Given the description of an element on the screen output the (x, y) to click on. 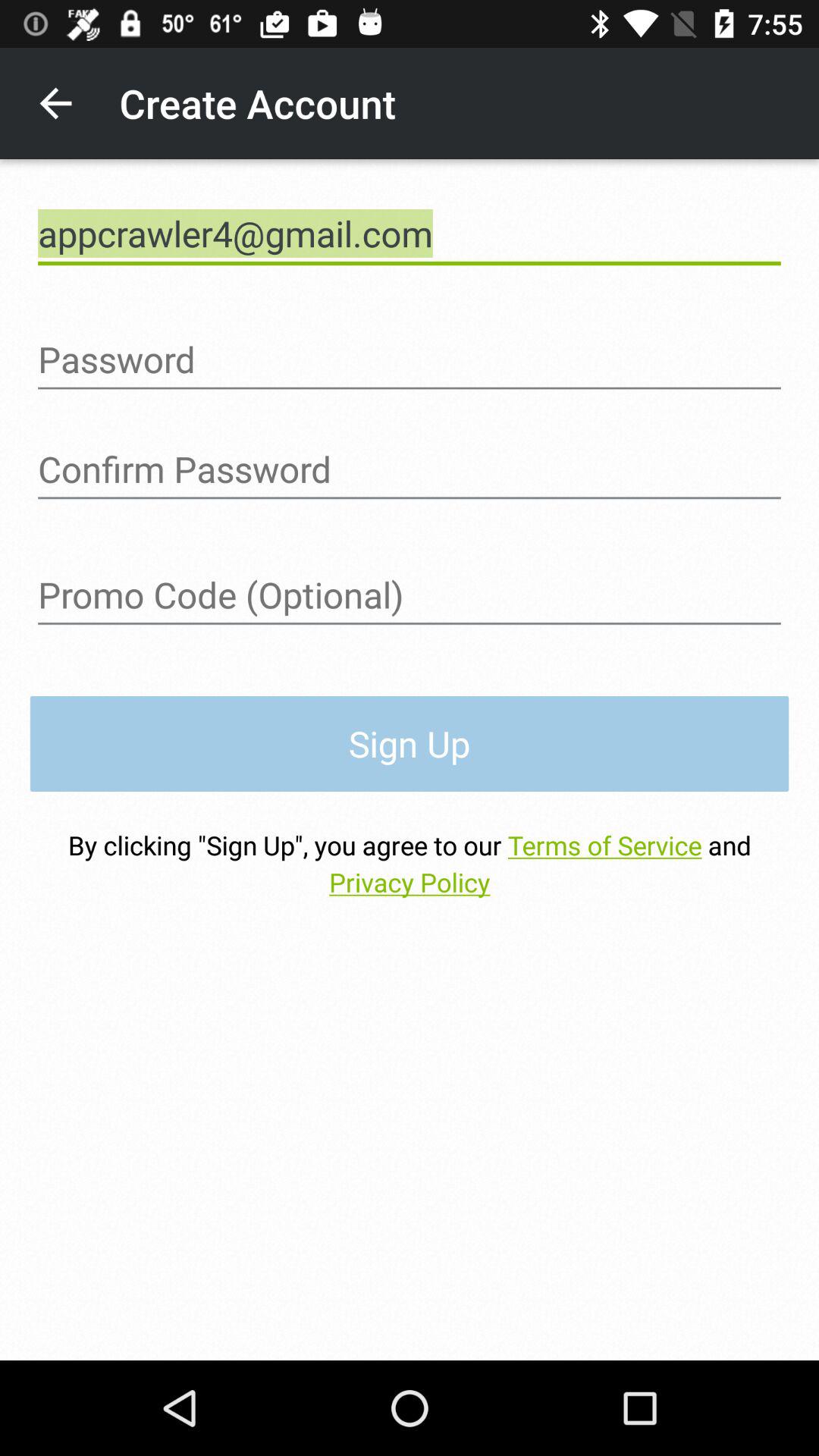
enter promo code optional (409, 595)
